Given the description of an element on the screen output the (x, y) to click on. 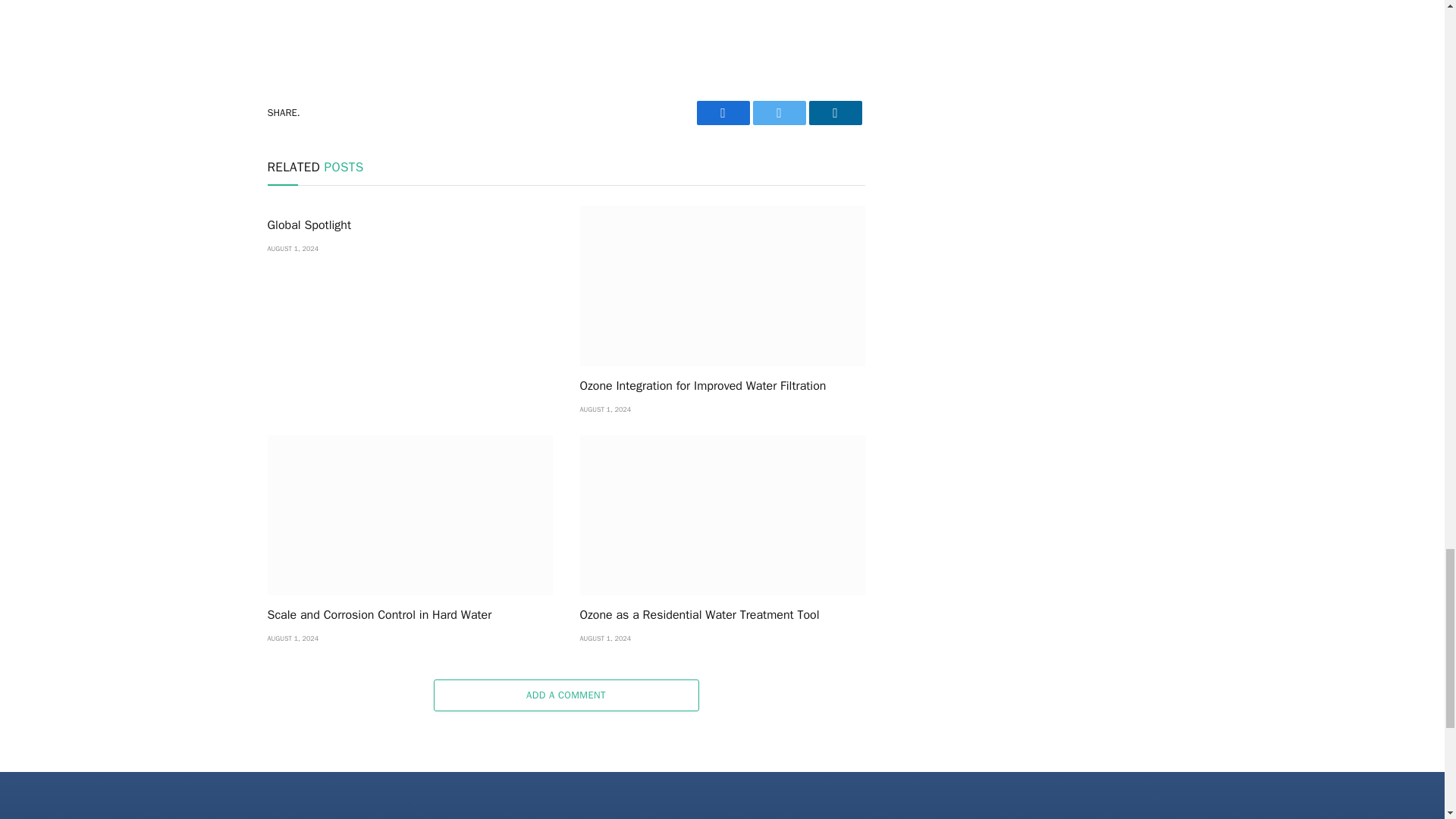
Share on Twitter (722, 112)
Share on LinkedIn (834, 112)
Share on Twitter (778, 112)
